Given the description of an element on the screen output the (x, y) to click on. 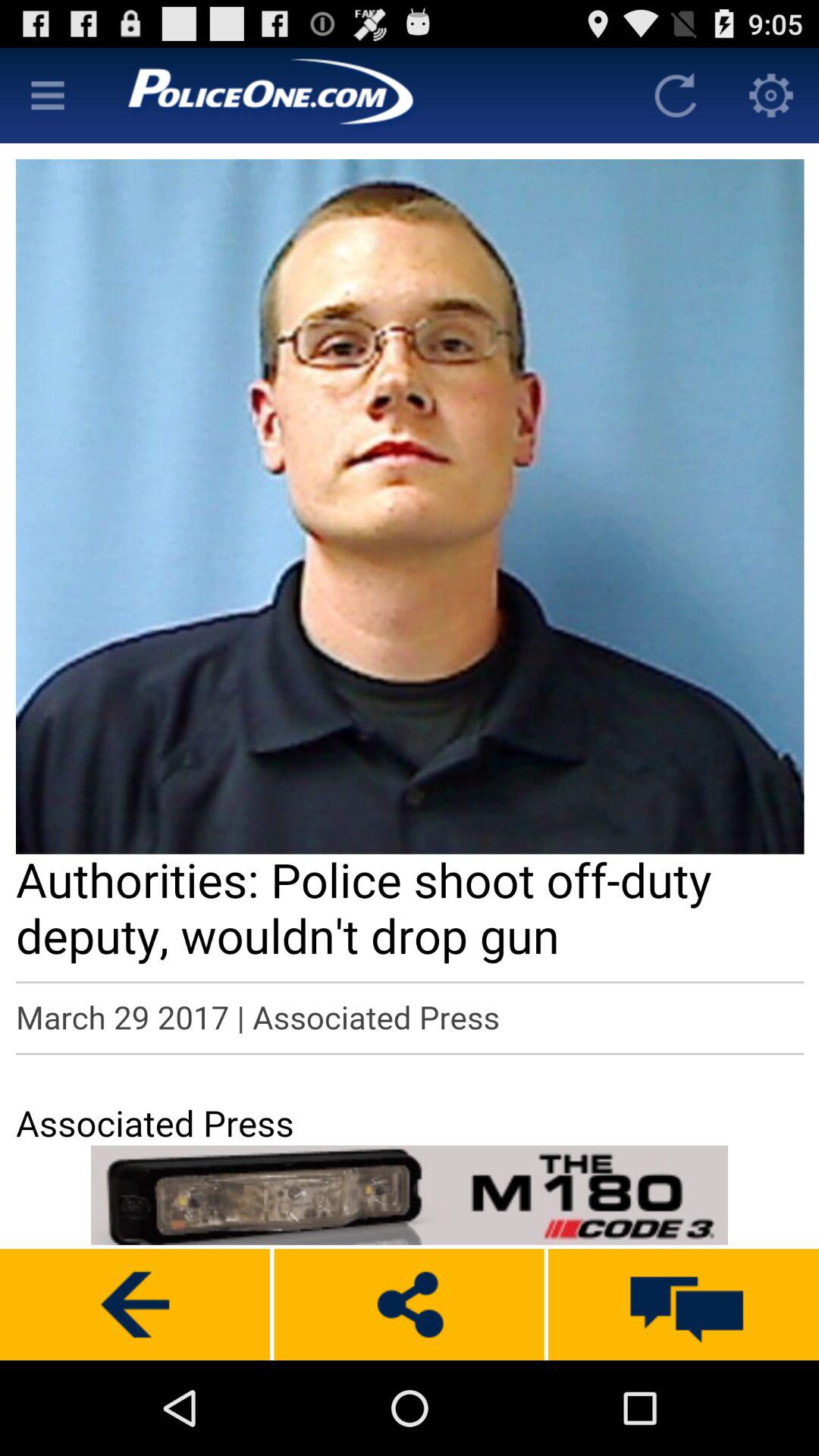
backward (135, 1304)
